Given the description of an element on the screen output the (x, y) to click on. 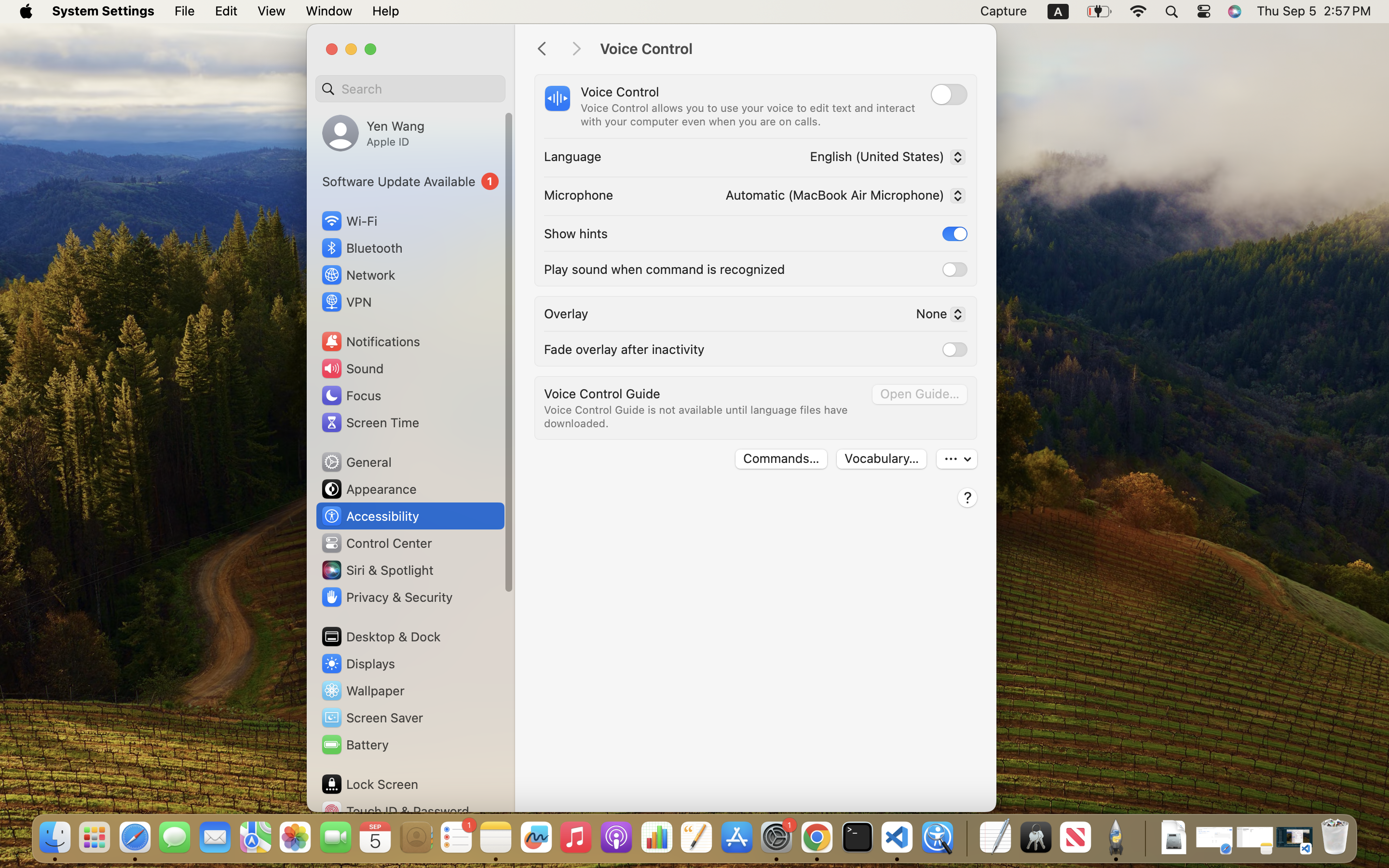
Desktop & Dock Element type: AXStaticText (380, 636)
Microphone Element type: AXStaticText (578, 194)
Siri & Spotlight Element type: AXStaticText (376, 569)
Language Element type: AXStaticText (572, 155)
Displays Element type: AXStaticText (357, 663)
